Given the description of an element on the screen output the (x, y) to click on. 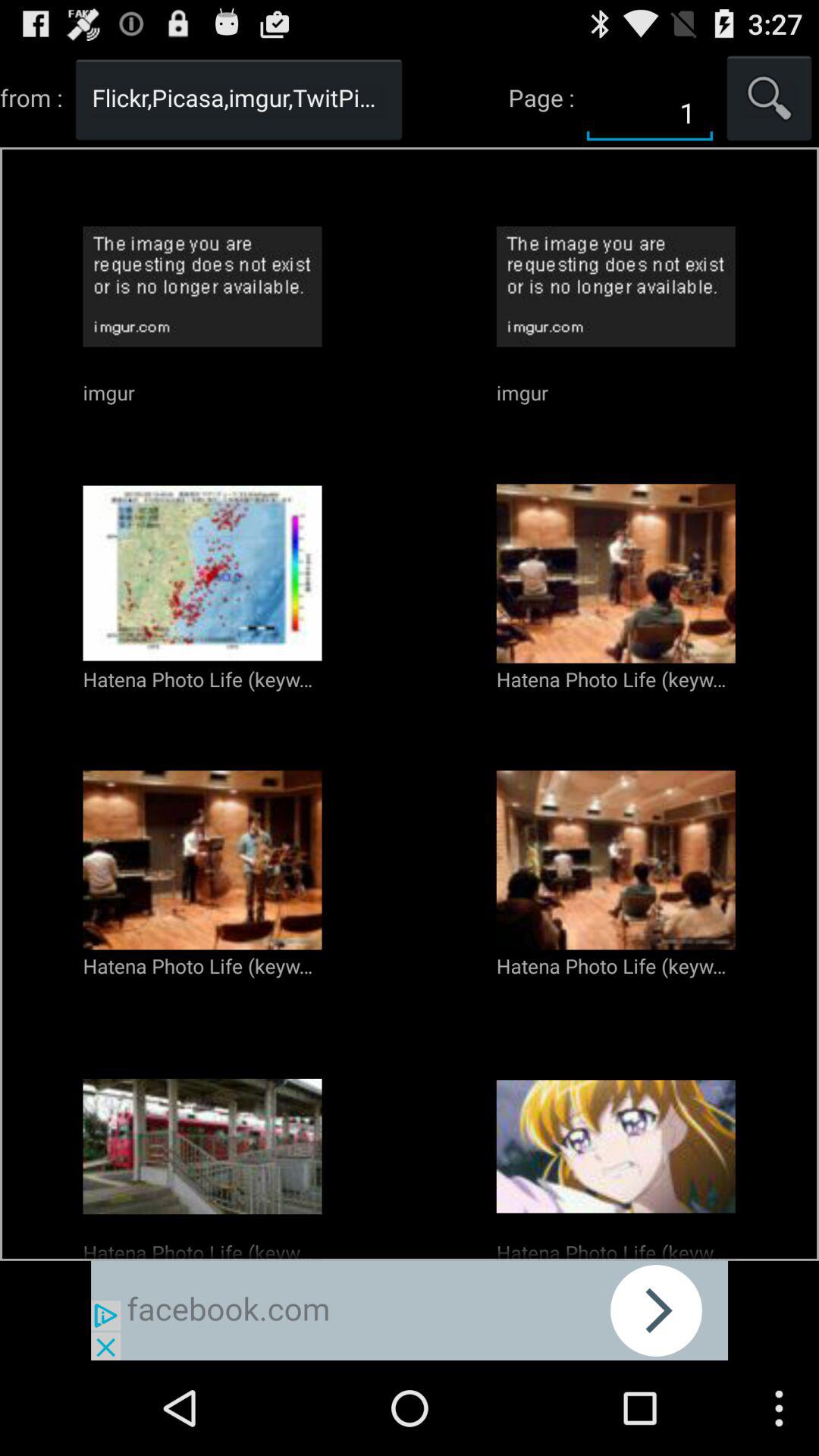
click the second image in the second row (615, 573)
select the first image in the second column (615, 286)
select the first image (202, 573)
